Given the description of an element on the screen output the (x, y) to click on. 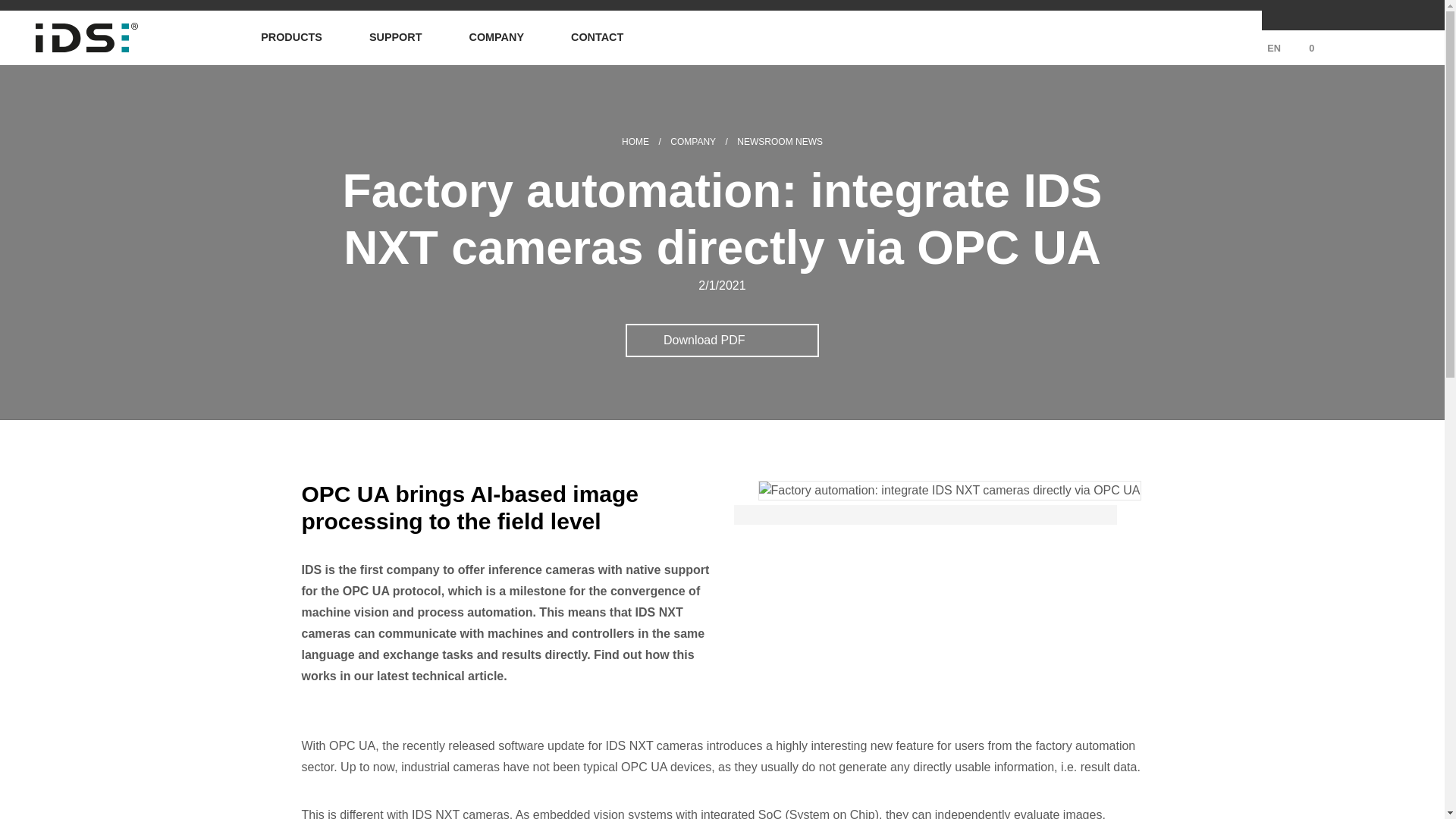
COMPANY (496, 37)
Company (692, 141)
CONTACT (593, 37)
IDS Vision Channel (1339, 15)
PRODUCTS (291, 37)
IDS Imaging Development Systems Inc (635, 141)
News (779, 141)
EN (1256, 48)
SUPPORT (394, 37)
